Given the description of an element on the screen output the (x, y) to click on. 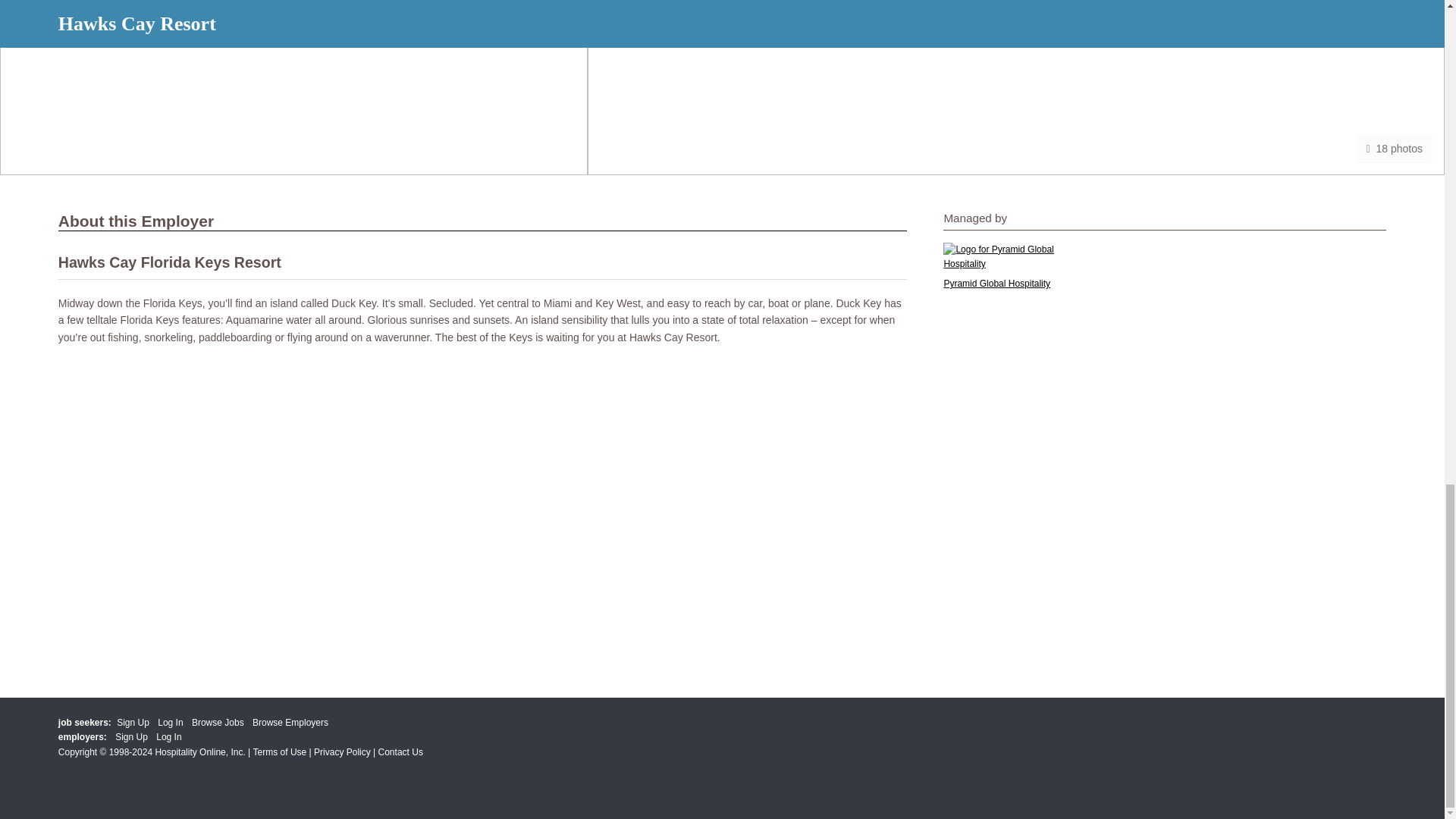
Log In (170, 722)
 18 photos (1394, 148)
Privacy Policy (342, 752)
Sign Up (132, 722)
Pyramid Global Hospitality (996, 283)
Browse Employers (290, 722)
Sign Up (131, 737)
Log In (167, 737)
Terms of Use (280, 752)
Contact Us (400, 752)
Browse Jobs (218, 722)
